Given the description of an element on the screen output the (x, y) to click on. 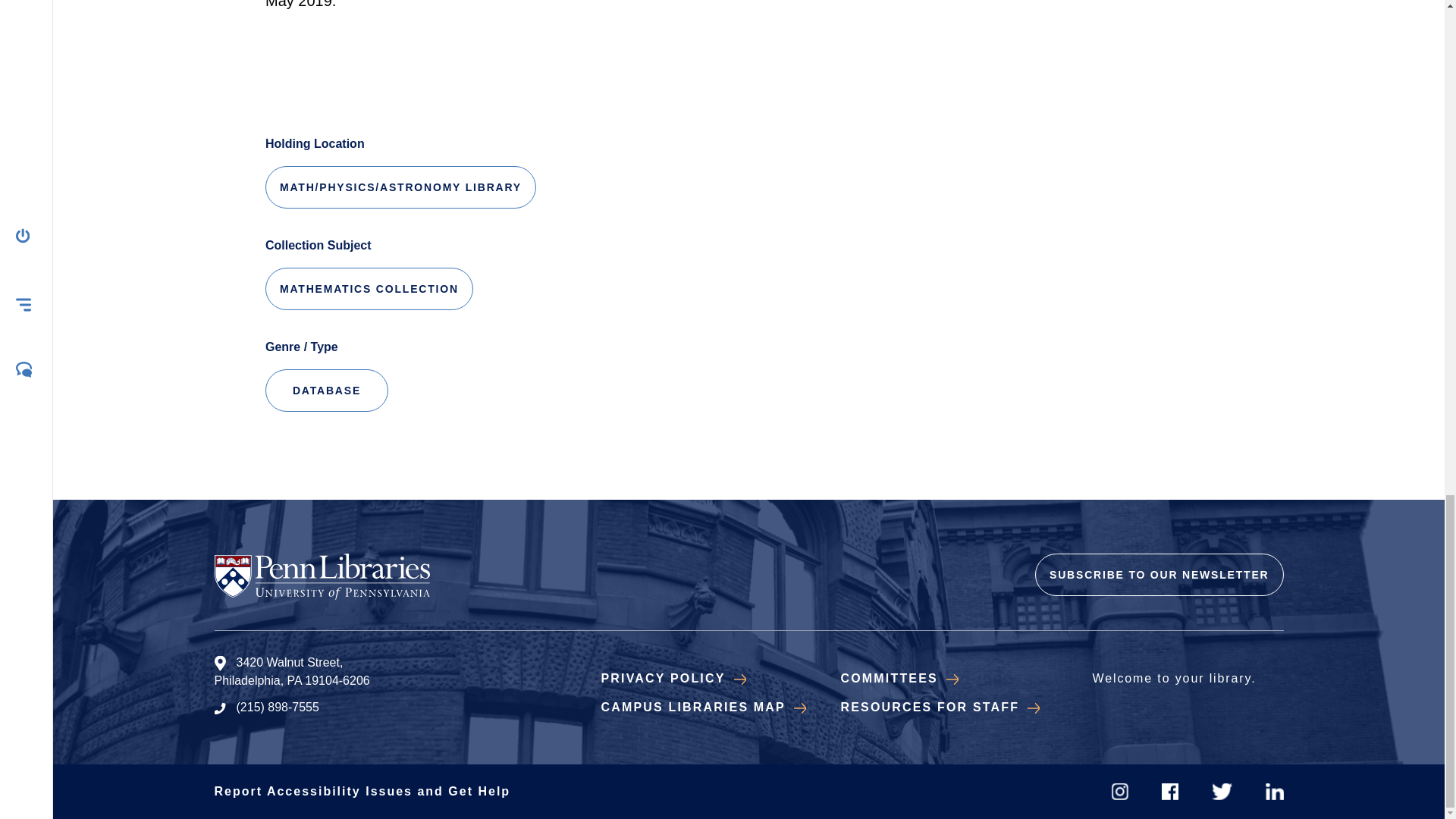
Link to Committees (899, 677)
Link to Resources for Staff (939, 707)
Mathematics CollectionMathematics Collection (368, 288)
Link to Report Accessibility Issues and Get Help (362, 790)
DatabaseDatabase (326, 390)
Link to Privacy Policy (672, 677)
Link to Campus libraries map (702, 707)
